Given the description of an element on the screen output the (x, y) to click on. 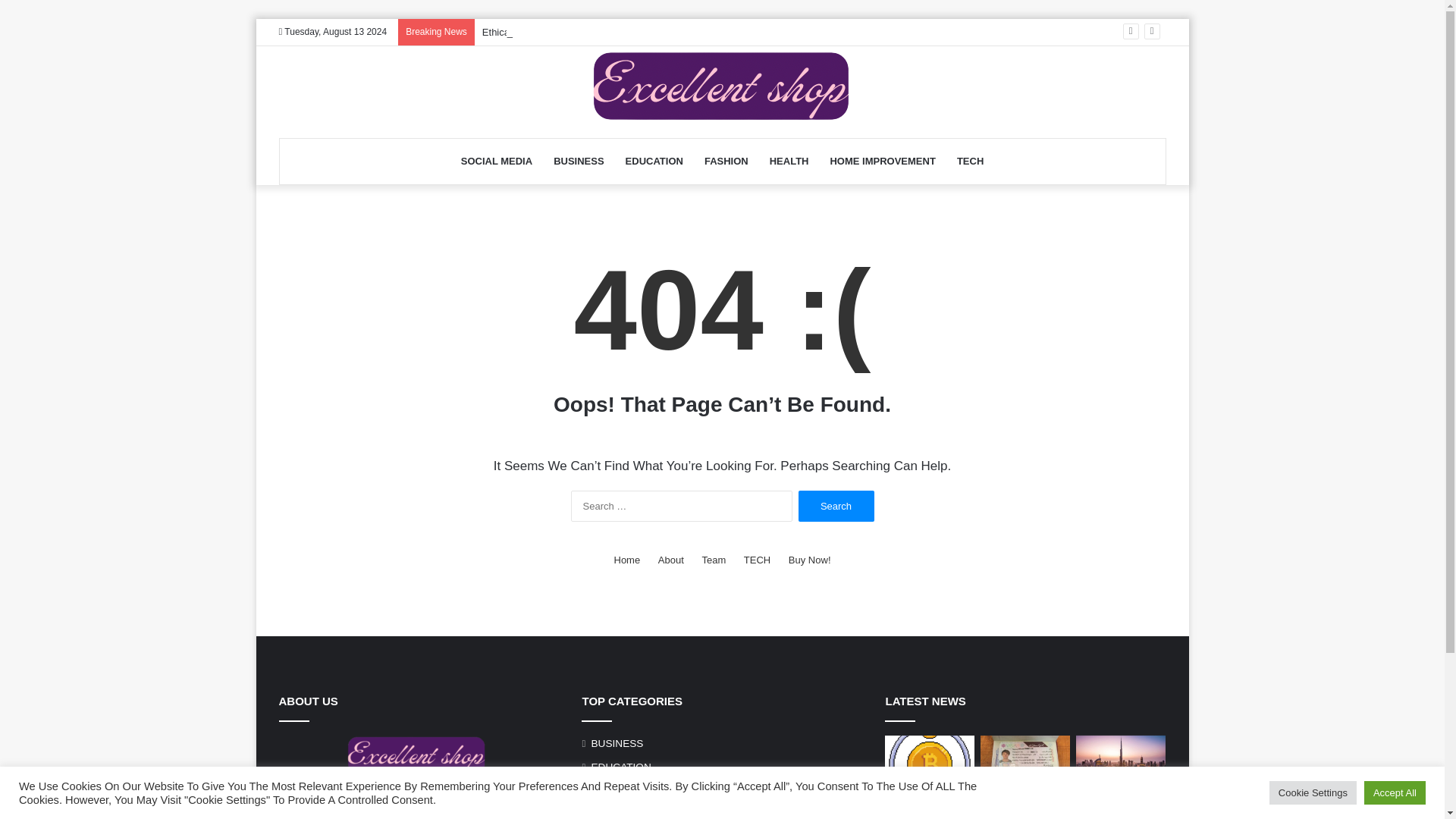
BUSINESS (617, 743)
Search (835, 505)
Team (713, 560)
Buy now! (810, 560)
About (671, 560)
HOME IMPROVEMENT (881, 161)
Search (835, 505)
EDUCATION (620, 766)
FASHION (613, 790)
HEALTH (610, 812)
